Given the description of an element on the screen output the (x, y) to click on. 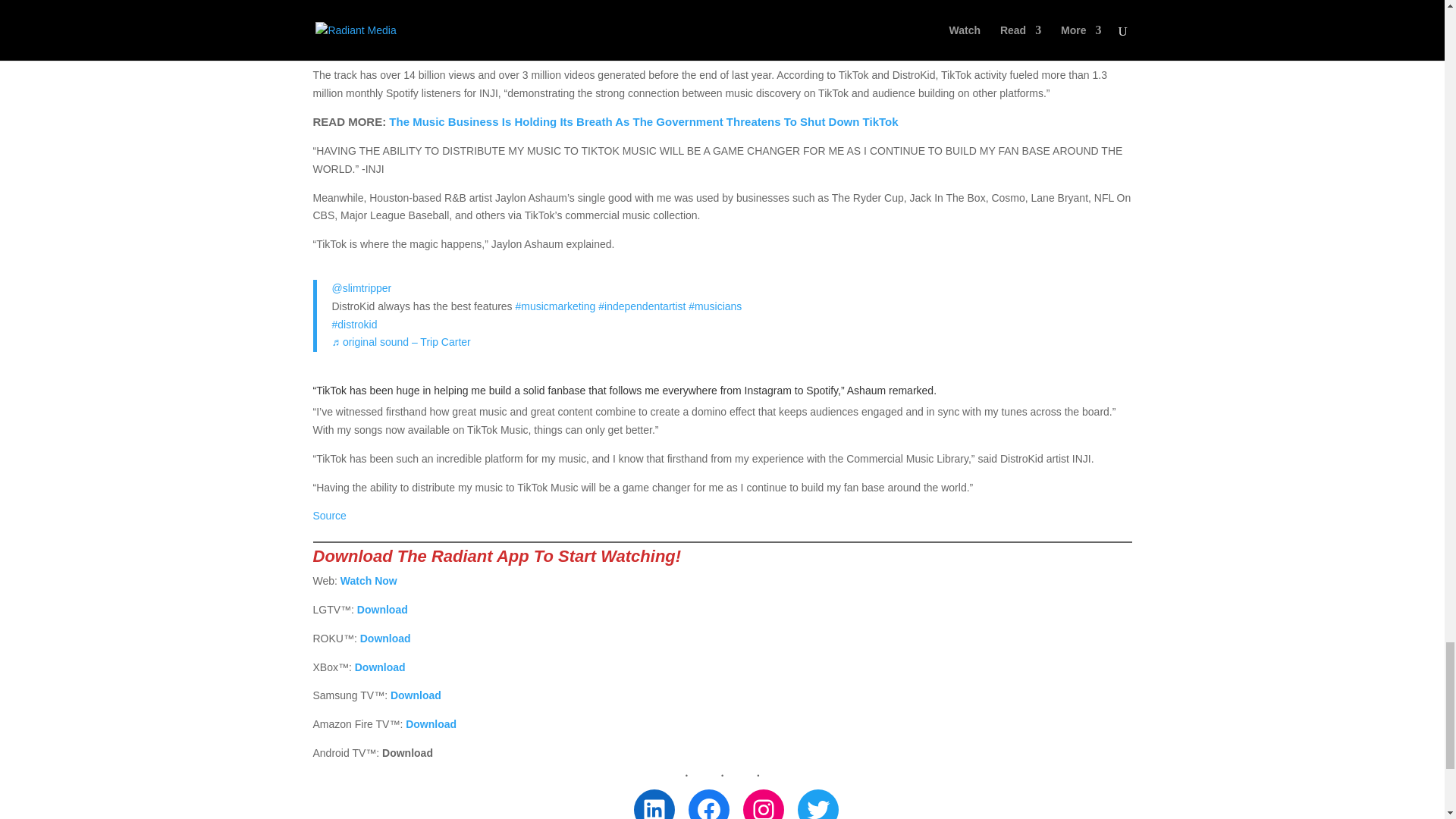
distrokid (354, 324)
musicians (714, 306)
musicmarketing (555, 306)
independentartist (641, 306)
